Given the description of an element on the screen output the (x, y) to click on. 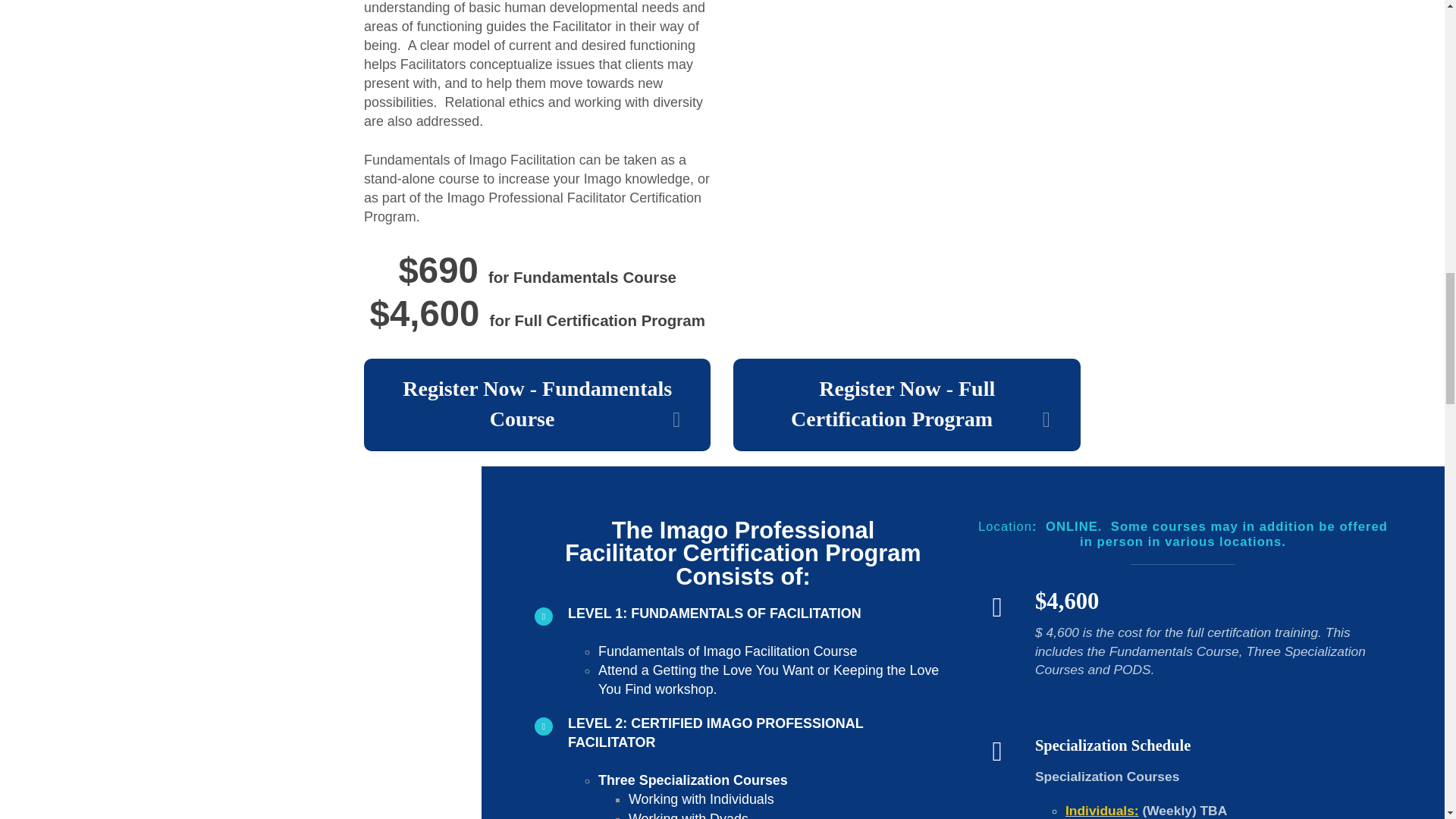
Individuals: (1101, 810)
Register Now - Full Certification Program (906, 404)
Register Now - Fundamentals Course (537, 404)
